Given the description of an element on the screen output the (x, y) to click on. 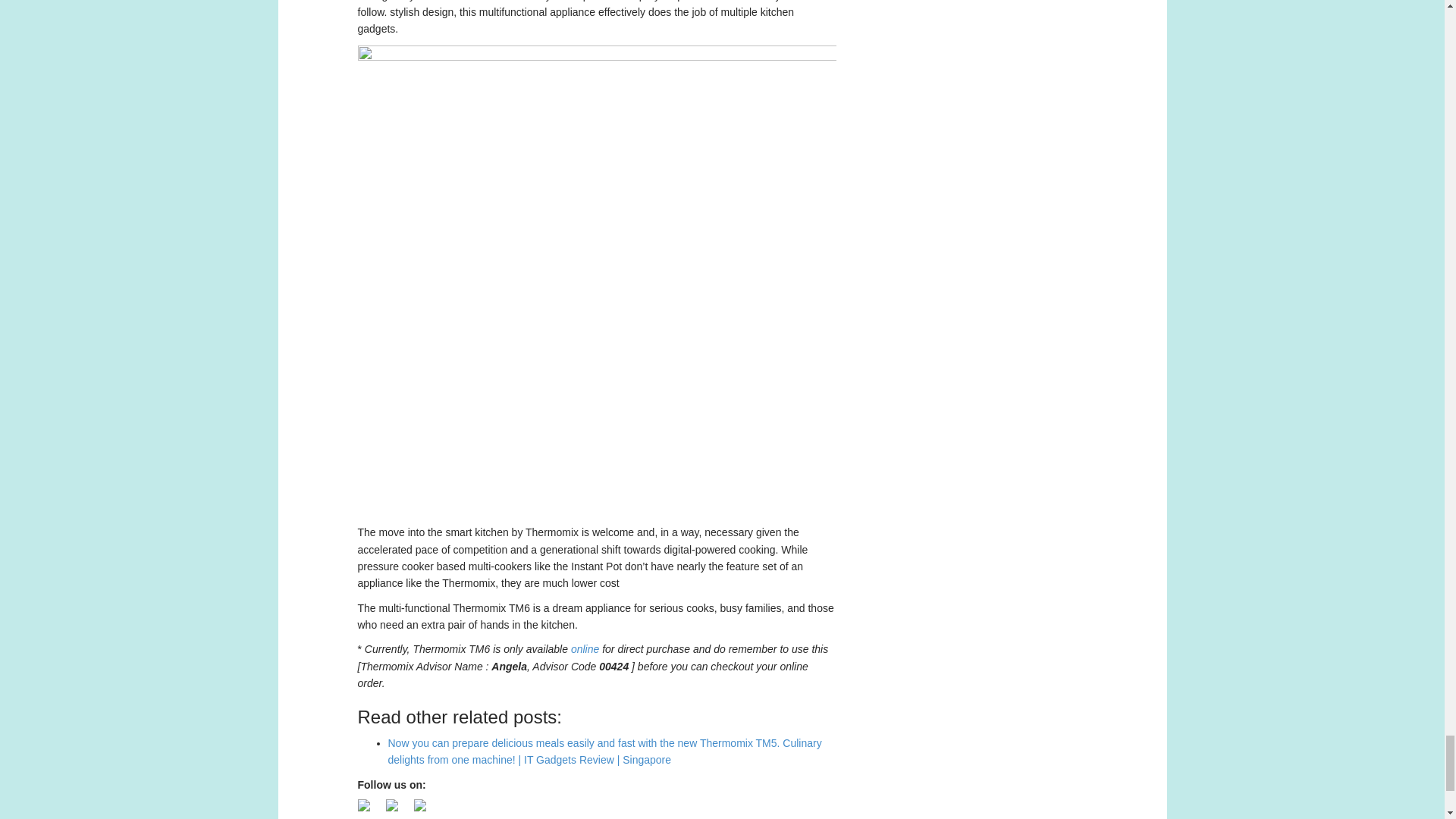
Follow us on Twitter (391, 805)
Follow us on Facebook (363, 805)
Check out our instagram feed (425, 809)
Check out our instagram feed (419, 805)
Follow us on Twitter (397, 809)
Follow us on Facebook (369, 809)
online (584, 648)
